Given the description of an element on the screen output the (x, y) to click on. 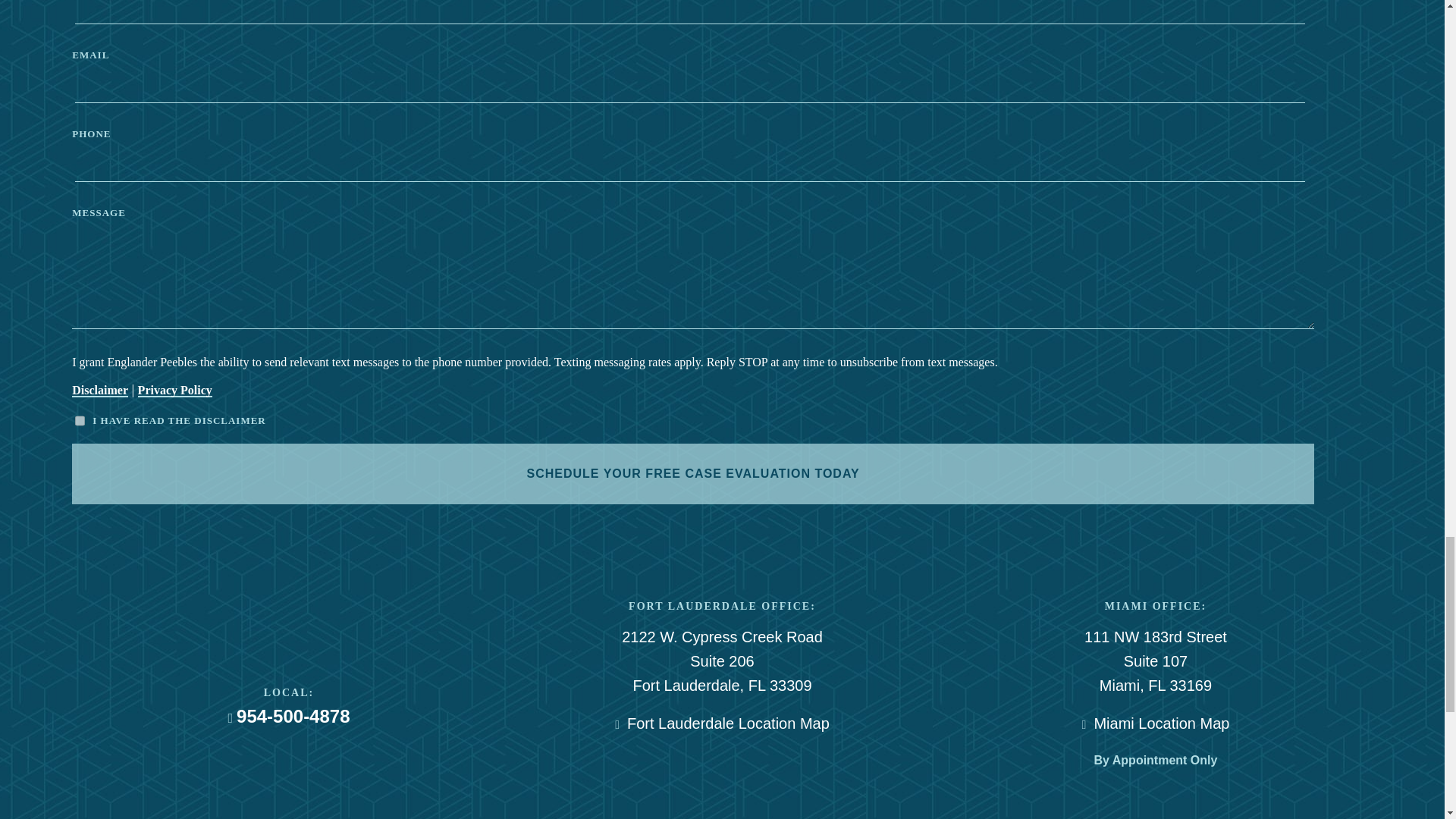
Fort Lauderdale Personal Injury Lawyers Logo (288, 614)
Submit Form (692, 473)
